Given the description of an element on the screen output the (x, y) to click on. 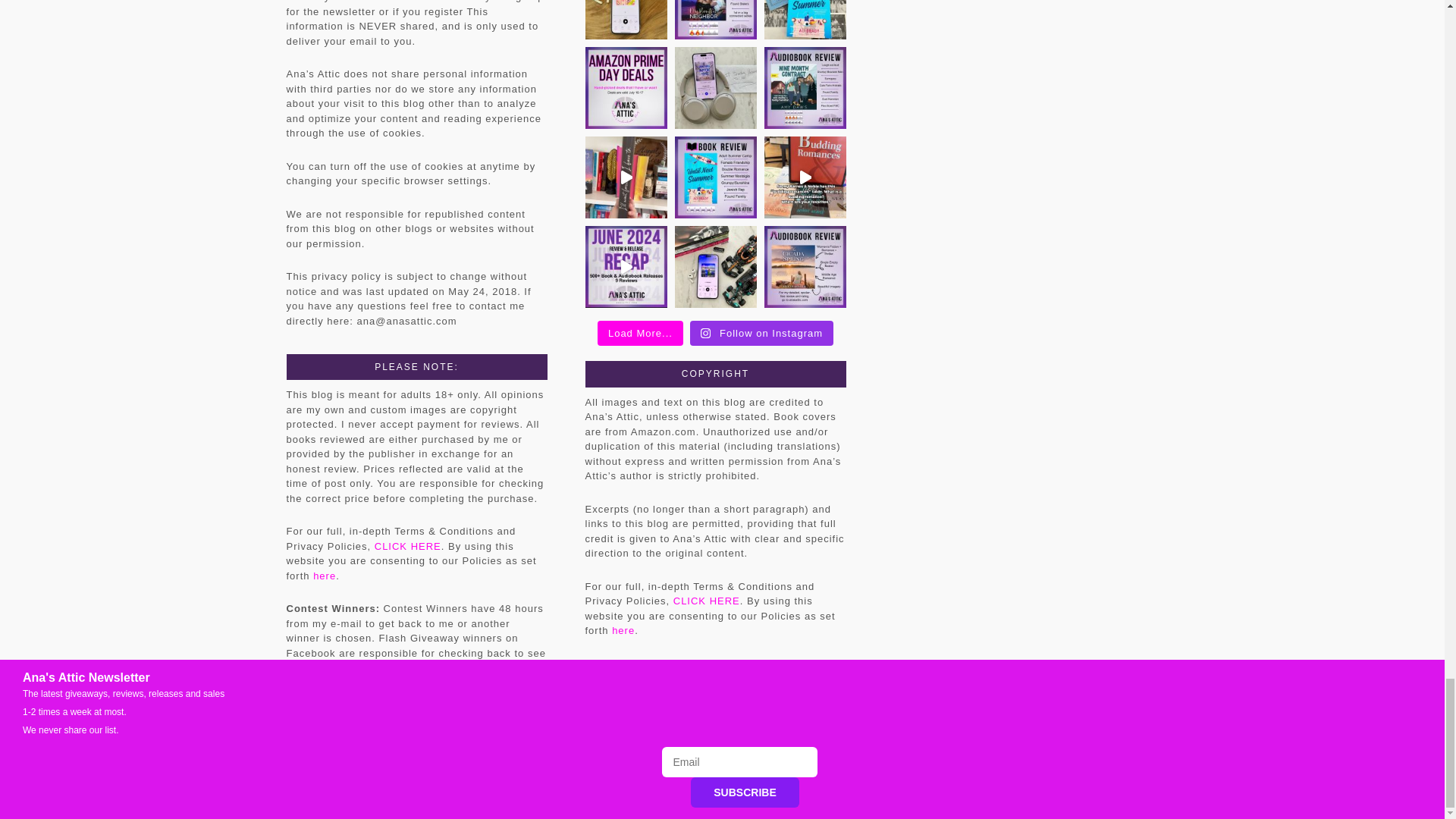
EMR Design Studio (814, 778)
